Given the description of an element on the screen output the (x, y) to click on. 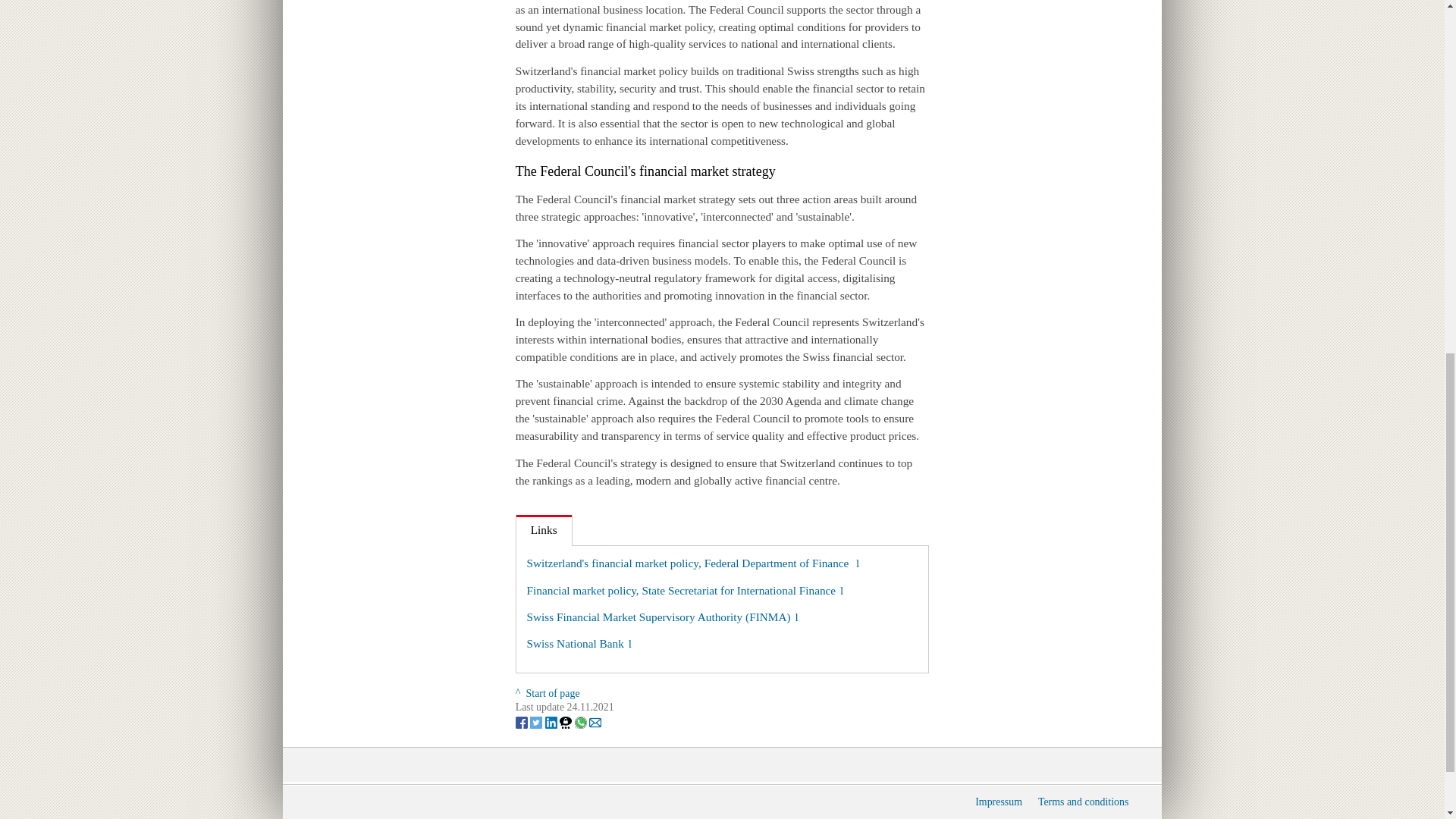
External Link (693, 562)
External Link (662, 616)
External Link (685, 590)
External Link (579, 643)
